Given the description of an element on the screen output the (x, y) to click on. 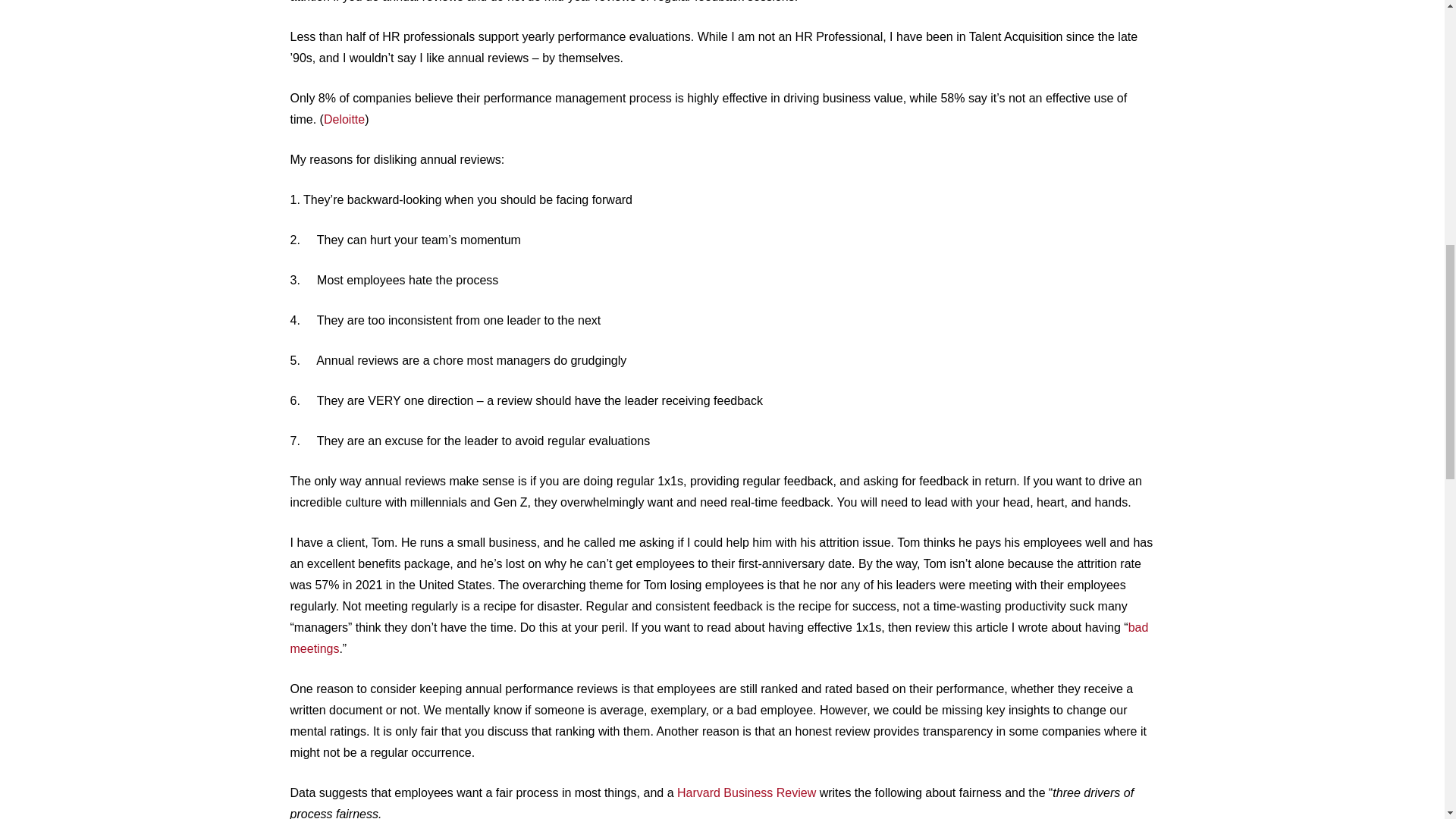
Harvard Business Review (746, 792)
bad meetings (718, 637)
Deloitte (344, 119)
